Given the description of an element on the screen output the (x, y) to click on. 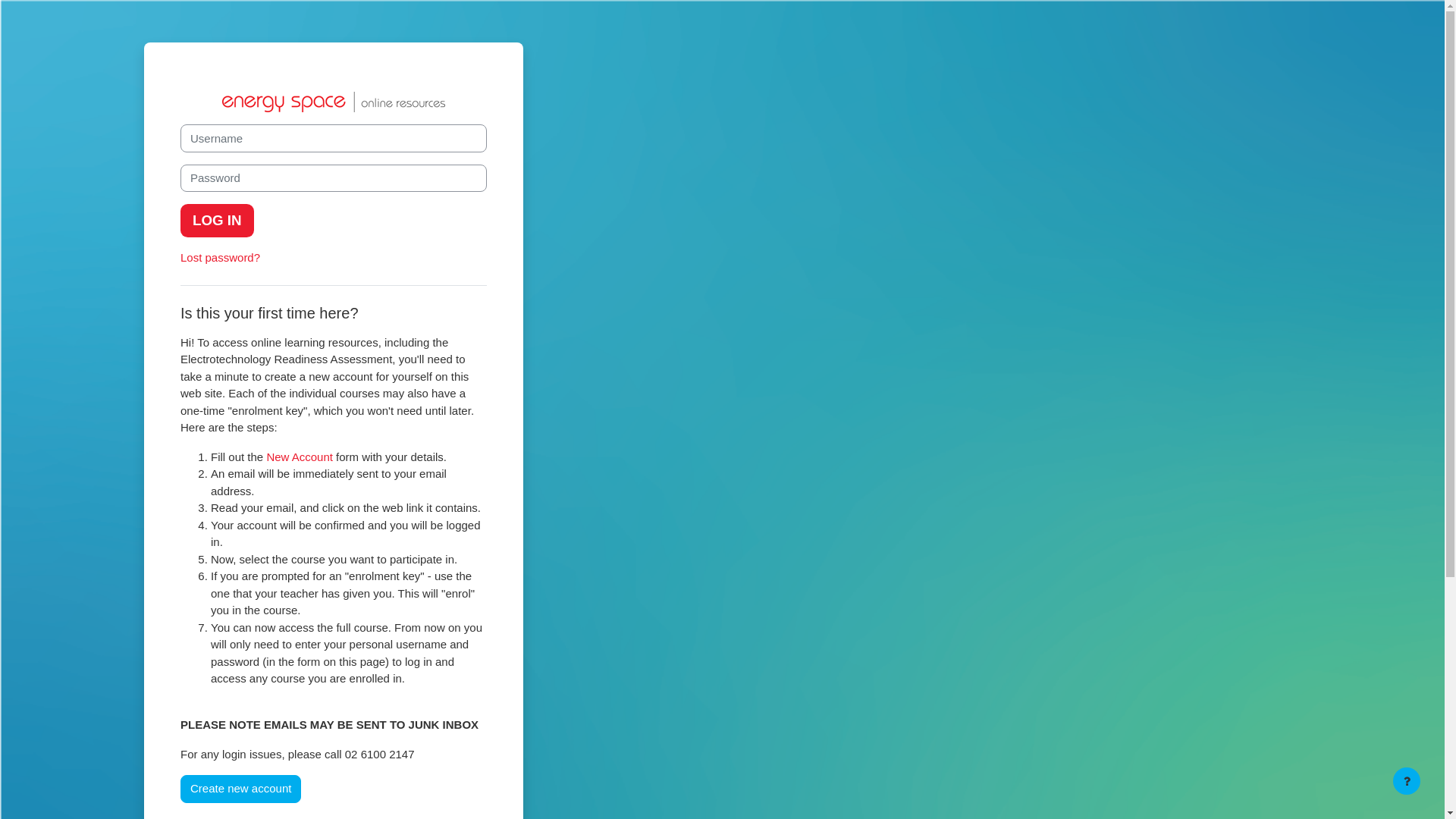
Skip to create new account Element type: text (179, 123)
New Account Element type: text (299, 456)
Lost password? Element type: text (220, 257)
Create new account Element type: text (240, 789)
LOG IN Element type: text (217, 220)
